Given the description of an element on the screen output the (x, y) to click on. 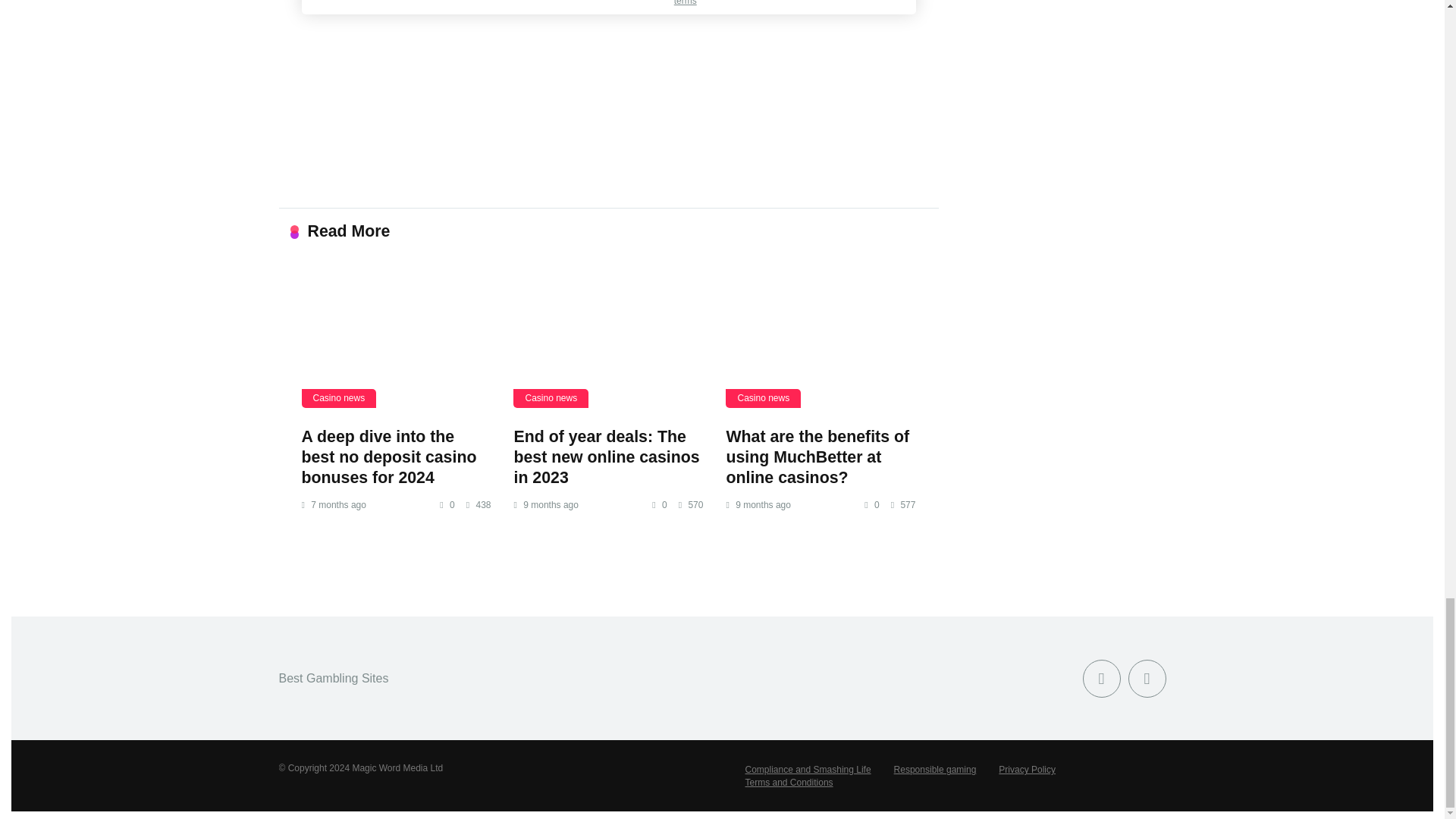
A deep dive into the best no deposit casino bonuses for 2024 (389, 456)
End of year deals: The best new online casinos in 2023 (608, 337)
See full terms (706, 2)
End of year deals: The best new online casinos in 2023 (605, 456)
A deep dive into the best no deposit casino bonuses for 2024 (396, 337)
